Given the description of an element on the screen output the (x, y) to click on. 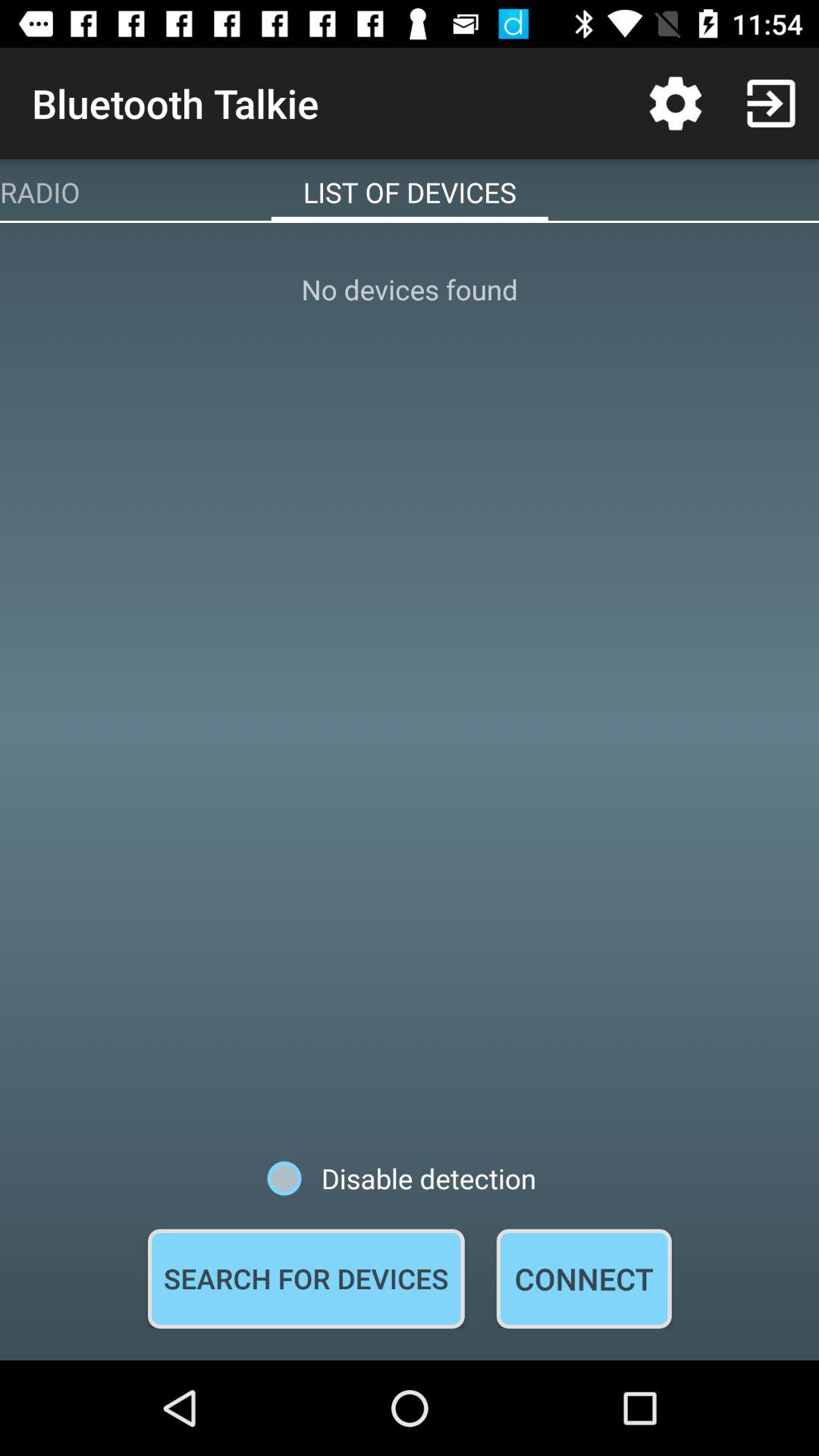
select connect (583, 1278)
